Given the description of an element on the screen output the (x, y) to click on. 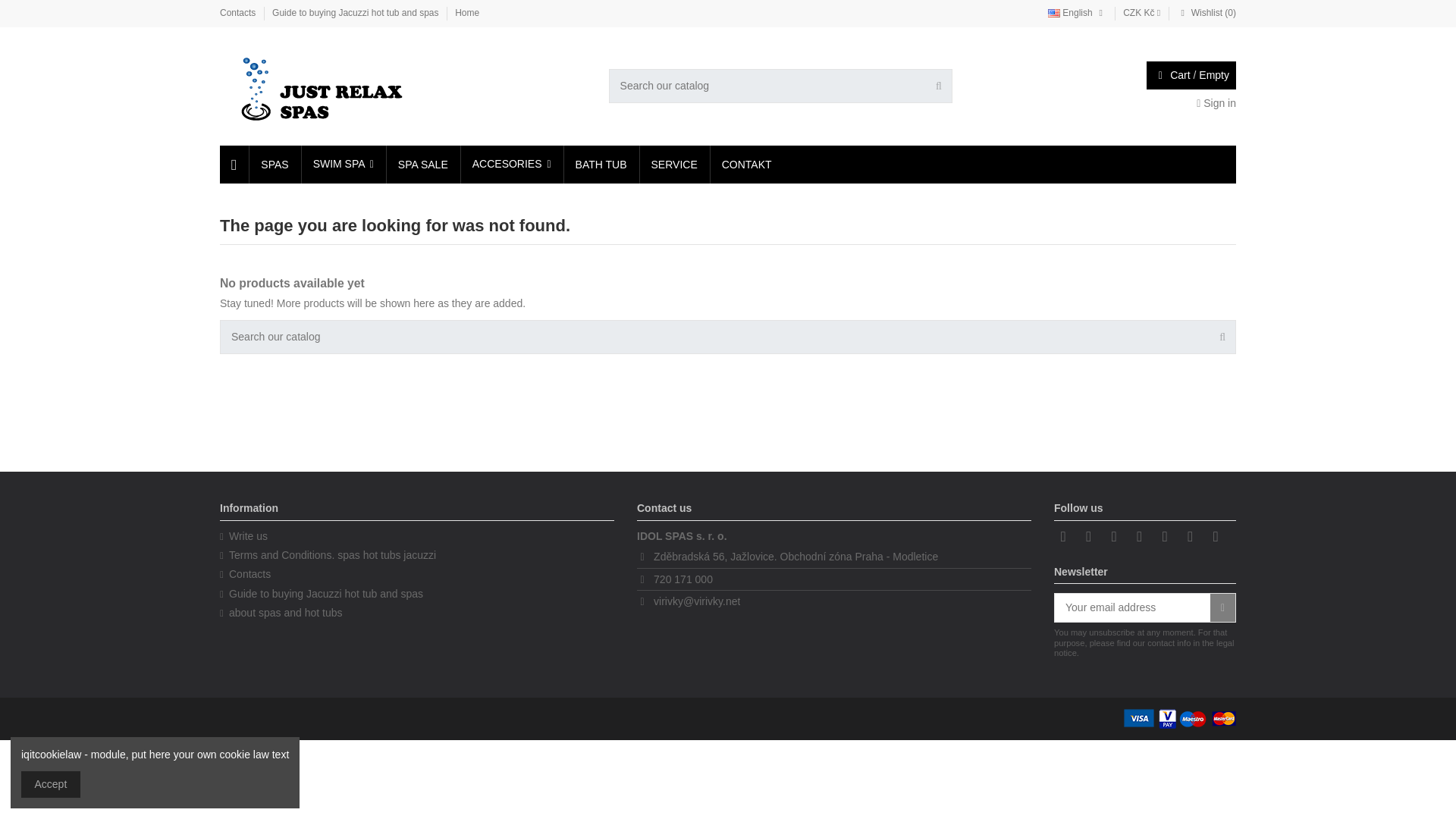
English (1077, 12)
Guide to buying Jacuzzi hot tub and spas (356, 12)
Sign in (1216, 102)
ACCESORIES (511, 164)
Contacts (239, 12)
SPAS (273, 164)
SWIM SPA (342, 164)
Home (466, 12)
SPA SALE (422, 164)
